Given the description of an element on the screen output the (x, y) to click on. 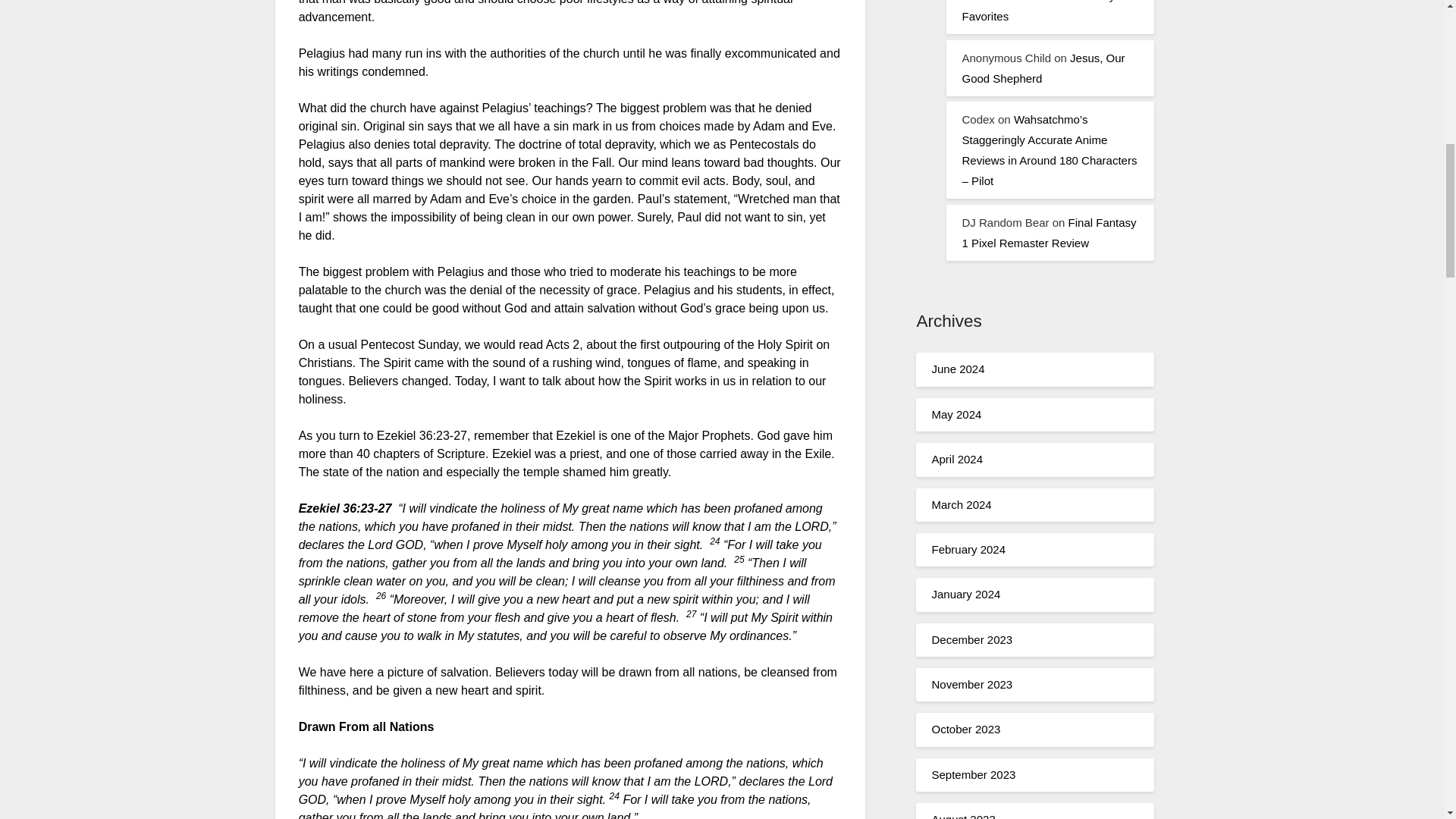
February 2024 (968, 549)
Jesus, Our Good Shepherd (1042, 68)
March 2024 (961, 504)
September 2023 (972, 774)
May 2024 (956, 413)
August 2023 (962, 816)
Final Fantasy 1 Pixel Remaster Review (1047, 232)
June 2024 (957, 368)
April 2024 (956, 459)
October 2023 (965, 728)
November 2023 (971, 684)
December 2023 (971, 639)
January 2024 (965, 594)
